Given the description of an element on the screen output the (x, y) to click on. 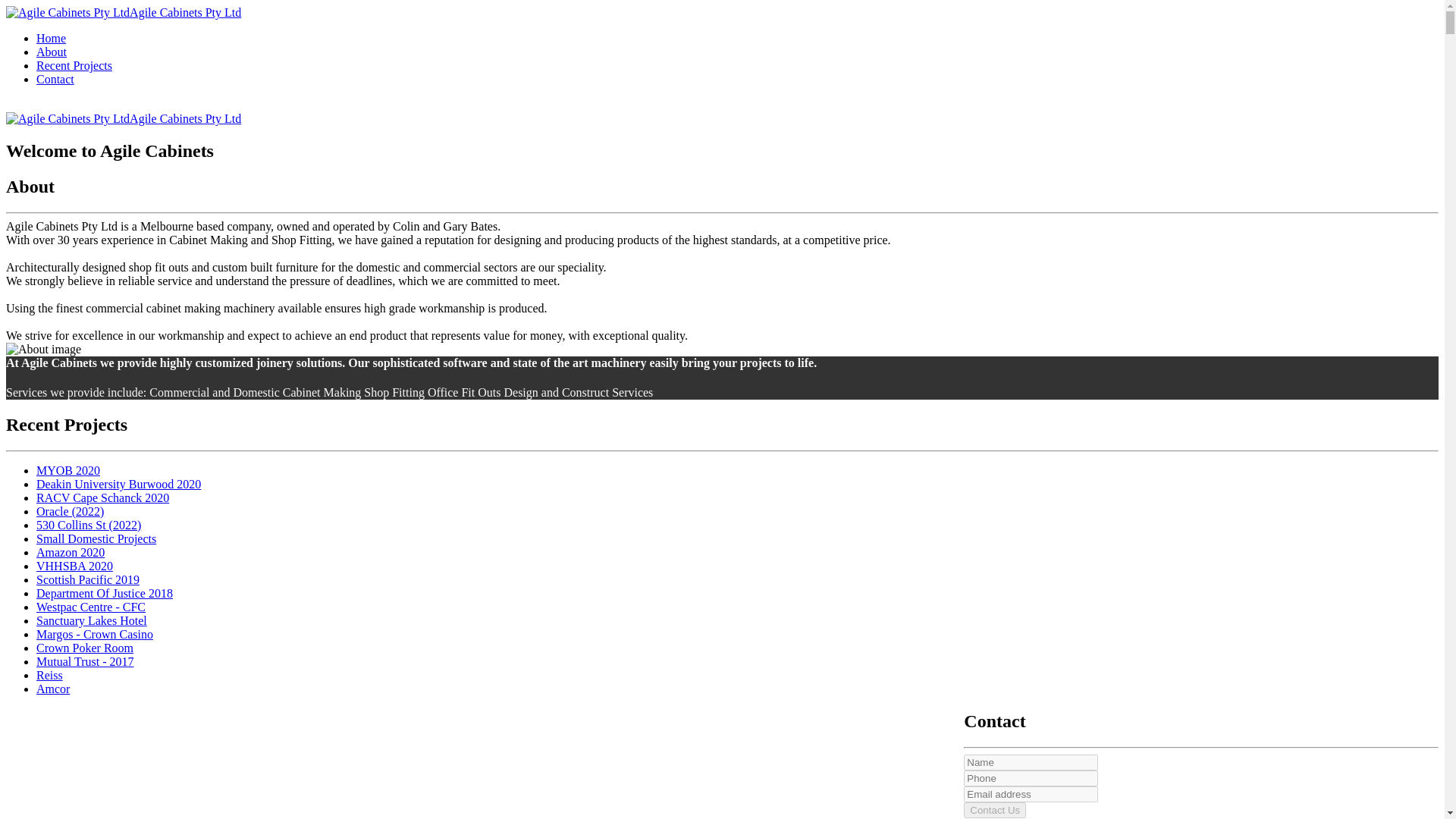
About (51, 51)
Contact (55, 78)
Amcor (52, 688)
Crown Poker Room (84, 647)
Mutual Trust - 2017 (84, 661)
Scottish Pacific 2019 (87, 579)
RACV Cape Schanck 2020 (102, 497)
Agile Cabinets Pty Ltd (123, 11)
Margos - Crown Casino (94, 634)
Westpac Centre - CFC (90, 606)
Recent Projects (74, 65)
Sanctuary Lakes Hotel (91, 620)
Amazon 2020 (70, 552)
MYOB 2020 (68, 470)
